Given the description of an element on the screen output the (x, y) to click on. 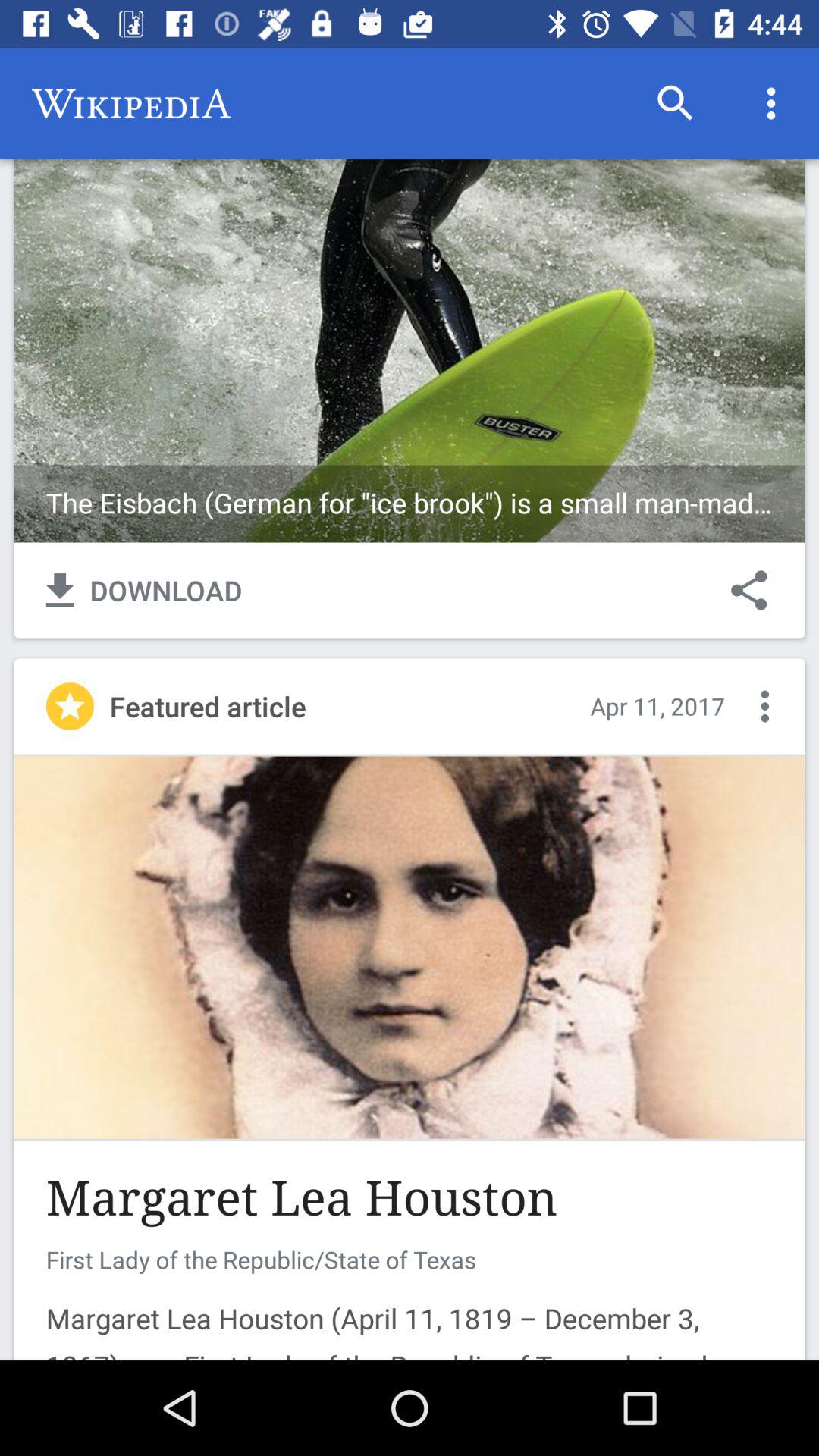
tap the item to the right of the download (748, 590)
